Given the description of an element on the screen output the (x, y) to click on. 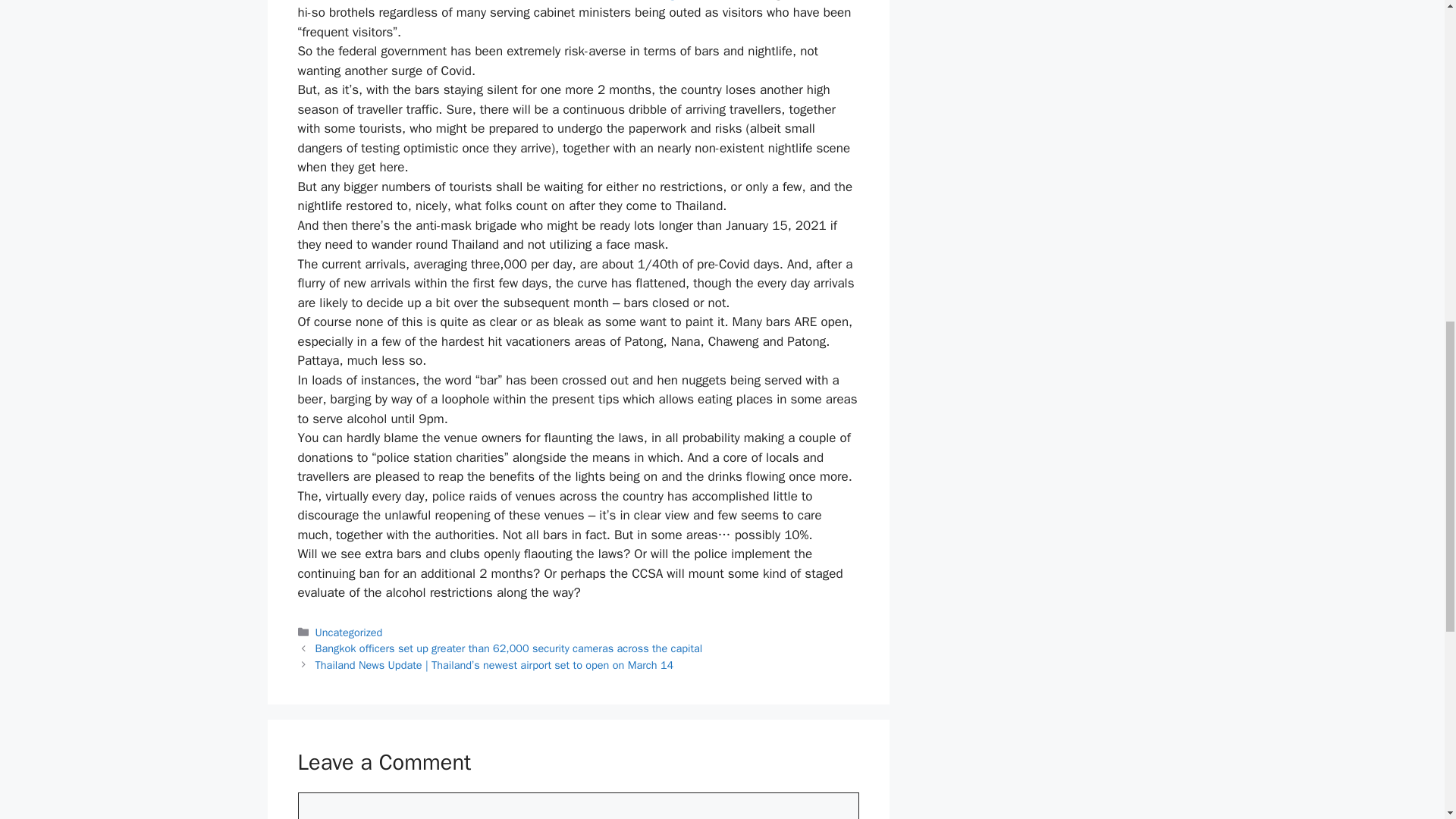
Uncategorized (348, 632)
Surge (665, 0)
